Given the description of an element on the screen output the (x, y) to click on. 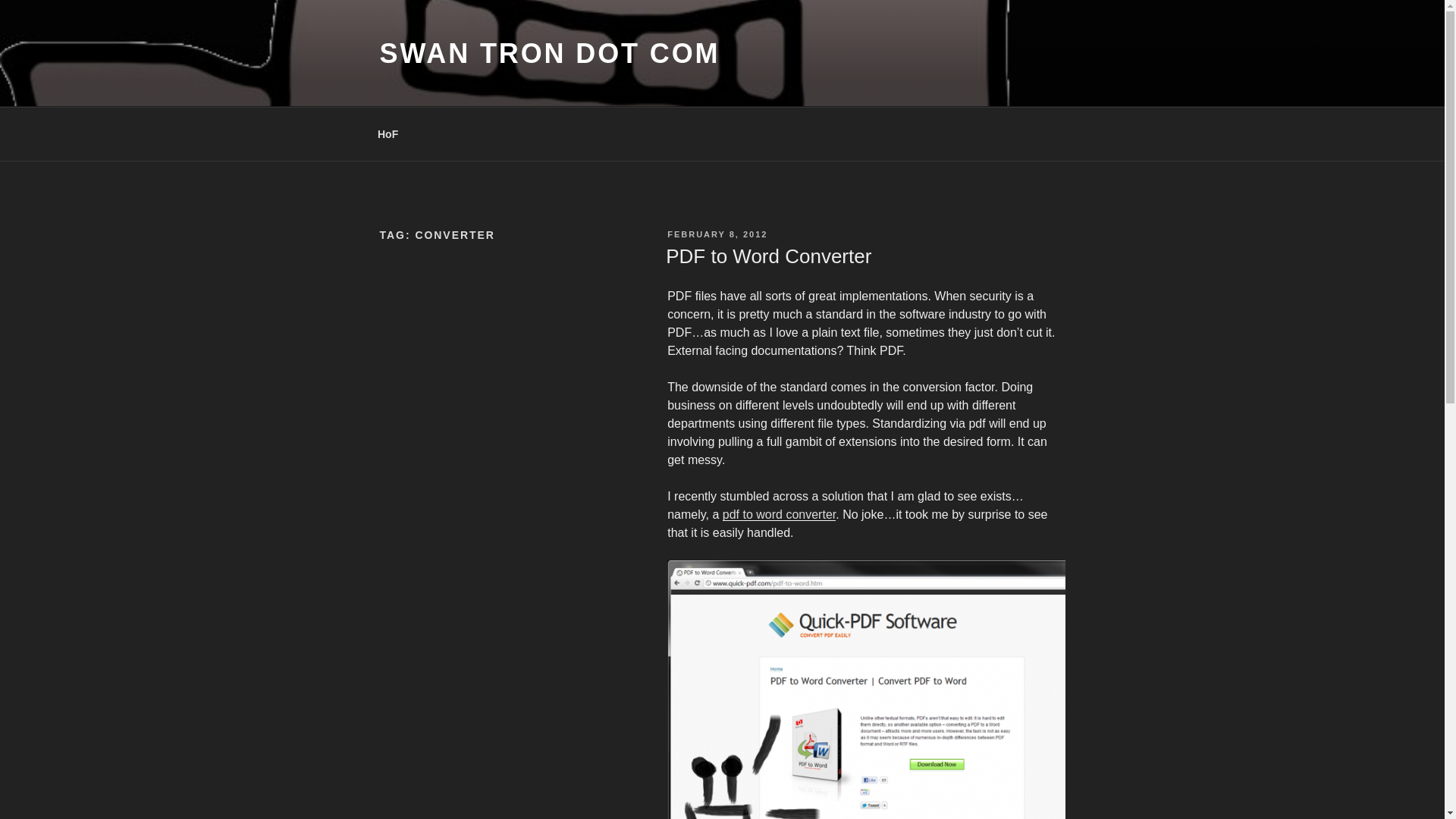
FEBRUARY 8, 2012 (716, 234)
PDF to Word Converter (767, 255)
pdf to word converter (778, 513)
HoF (387, 133)
SWAN TRON DOT COM (548, 52)
